Given the description of an element on the screen output the (x, y) to click on. 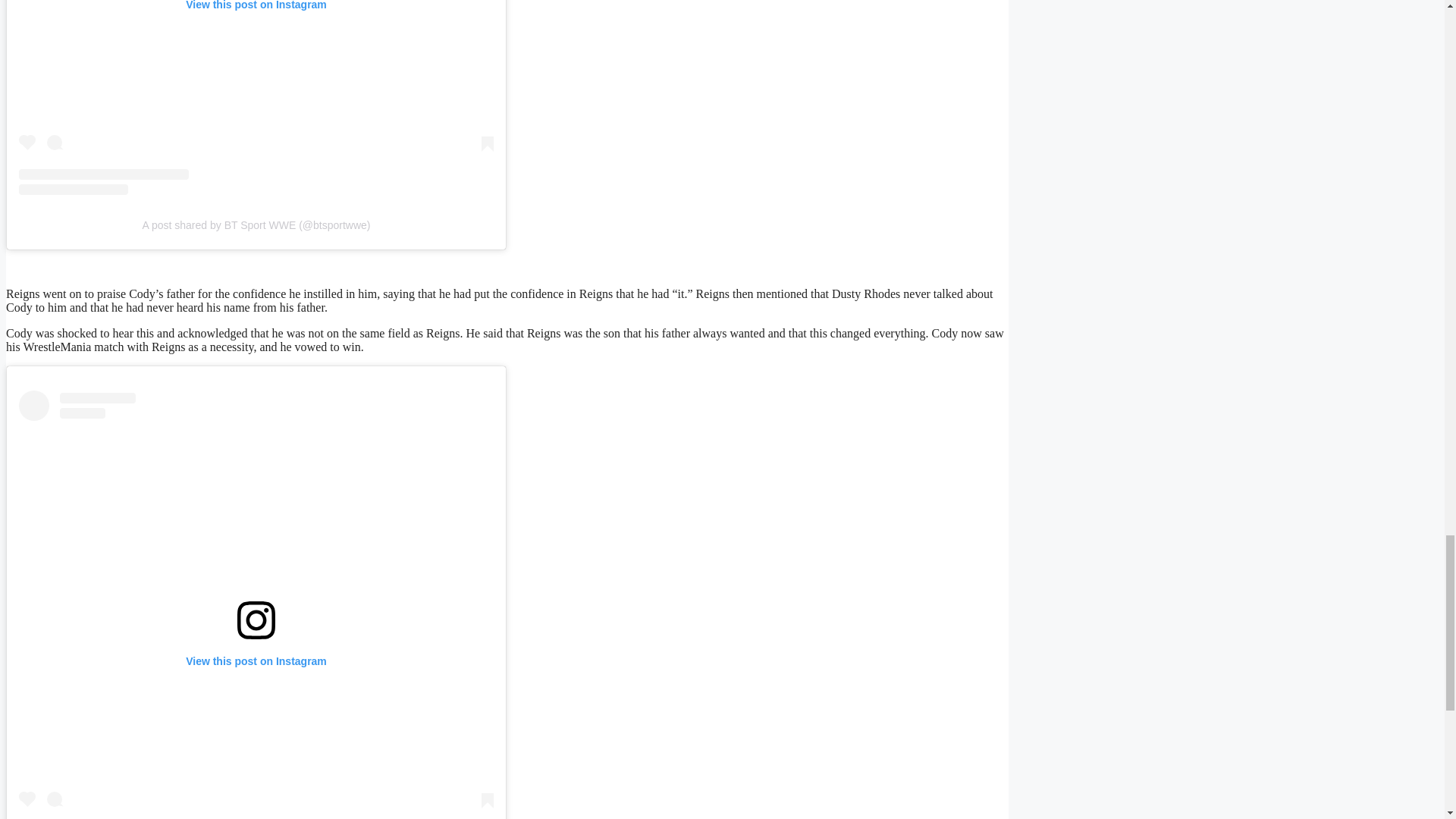
View this post on Instagram (255, 97)
